Given the description of an element on the screen output the (x, y) to click on. 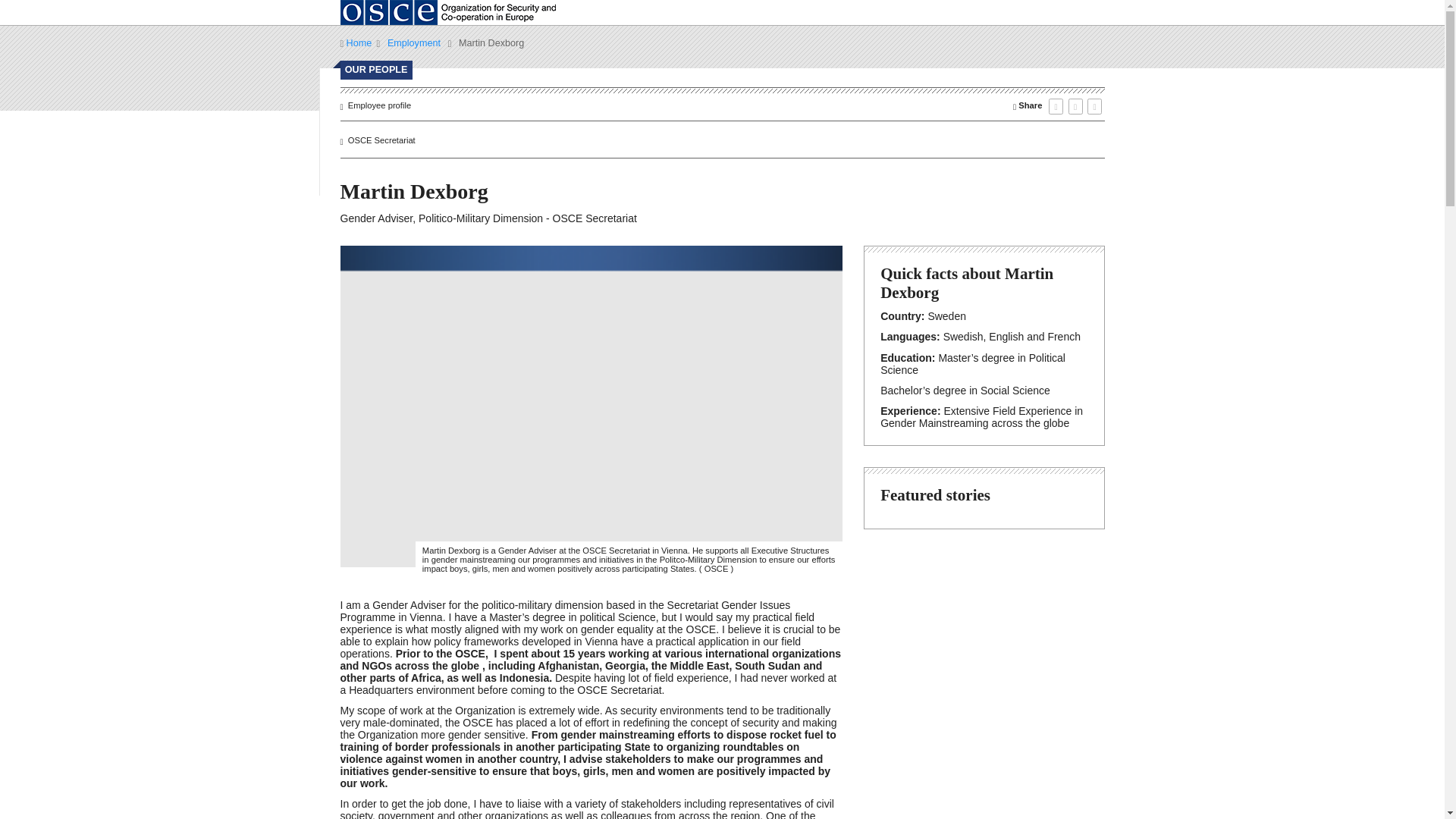
Organisation for Security and Co-Operation (456, 12)
Home (359, 42)
Employment (414, 42)
